Given the description of an element on the screen output the (x, y) to click on. 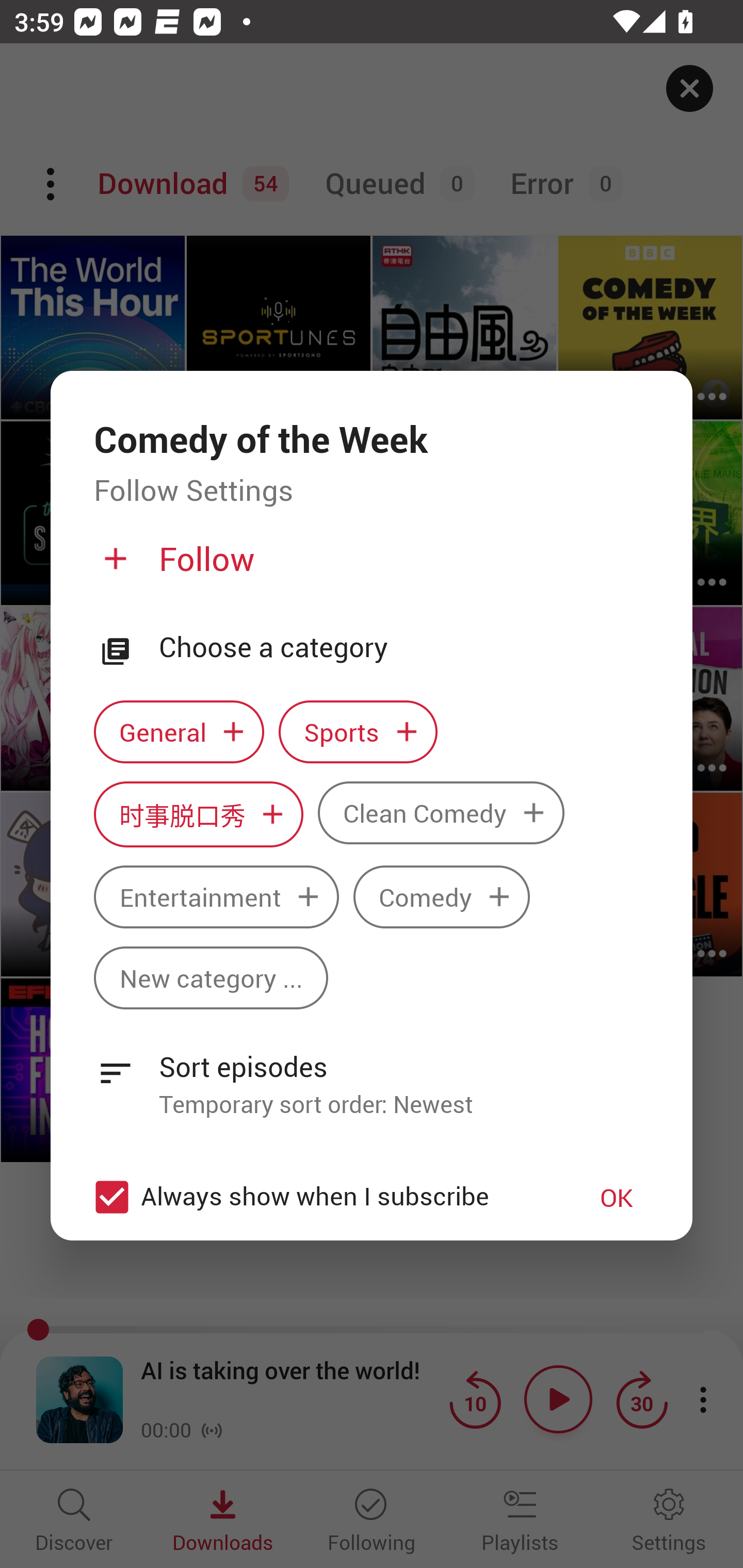
Follow (369, 566)
Choose a category (404, 647)
General (178, 731)
Sports (357, 731)
时事脱口秀 (198, 813)
Clean Comedy (441, 811)
Entertainment (215, 896)
Comedy (441, 896)
New category ... (210, 978)
Sort episodes Temporary sort order: Newest (371, 1073)
OK (616, 1197)
Always show when I subscribe (320, 1197)
